Given the description of an element on the screen output the (x, y) to click on. 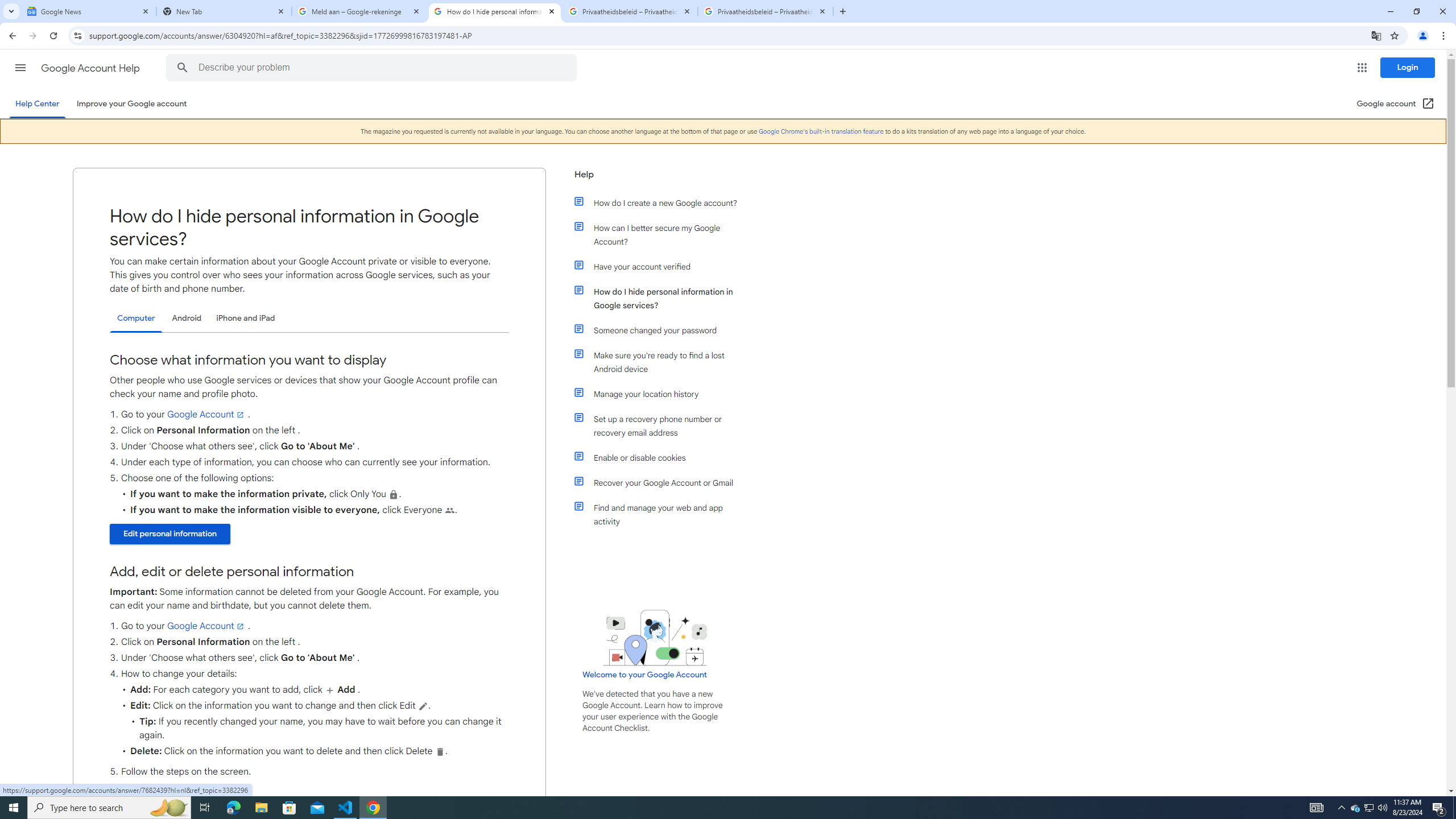
Manage your location history (661, 394)
How do I hide personal information in Google services? (661, 298)
Make sure you're ready to find a lost Android device (661, 362)
Computer (136, 318)
To delete (439, 751)
Google Account Help (91, 68)
Set up a recovery phone number or recovery email address (661, 426)
Translate this page (1376, 35)
Add User (329, 689)
